Given the description of an element on the screen output the (x, y) to click on. 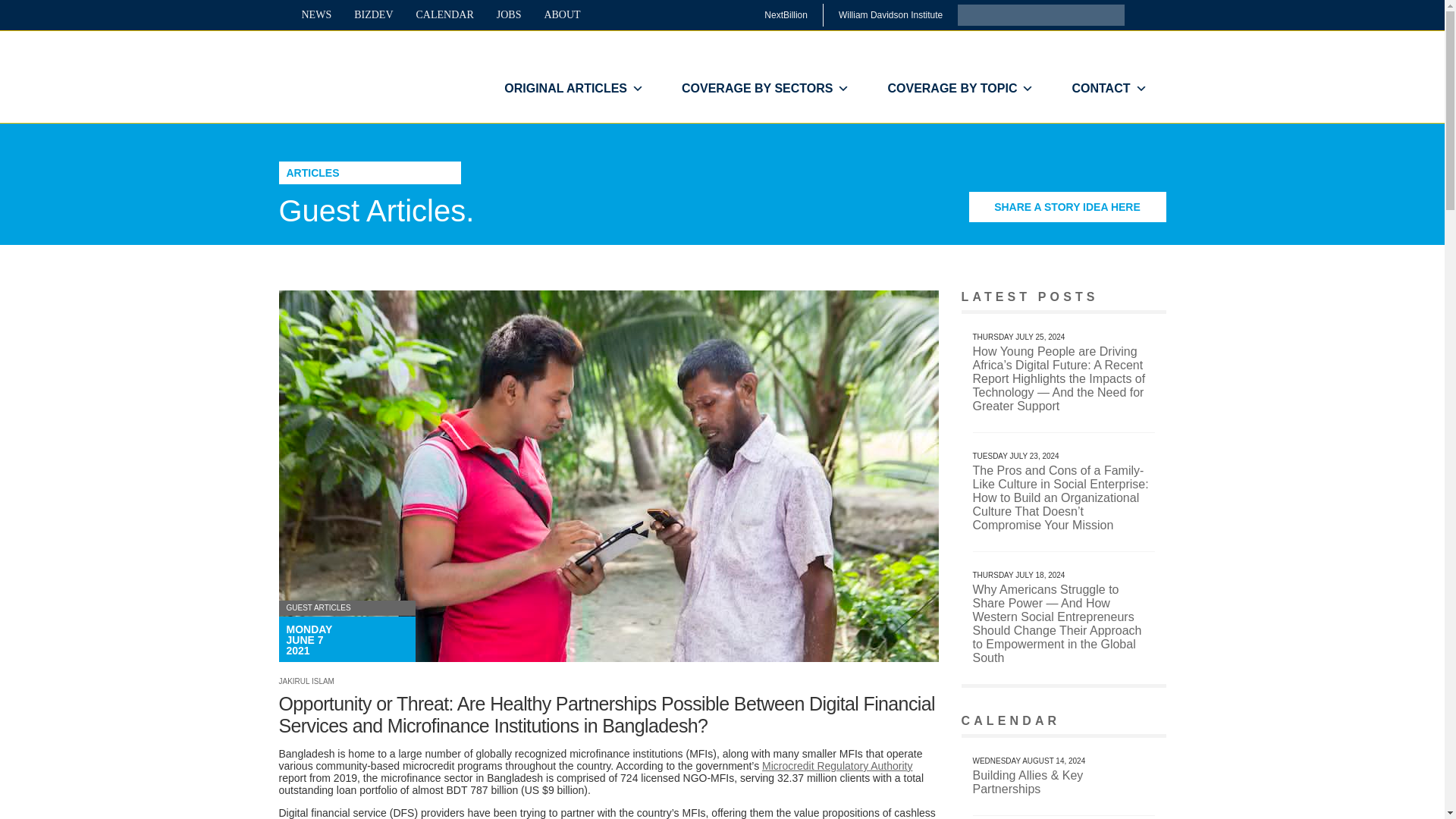
COVERAGE BY SECTORS (764, 88)
COVERAGE BY TOPIC (959, 88)
ORIGINAL ARTICLES (573, 88)
